Given the description of an element on the screen output the (x, y) to click on. 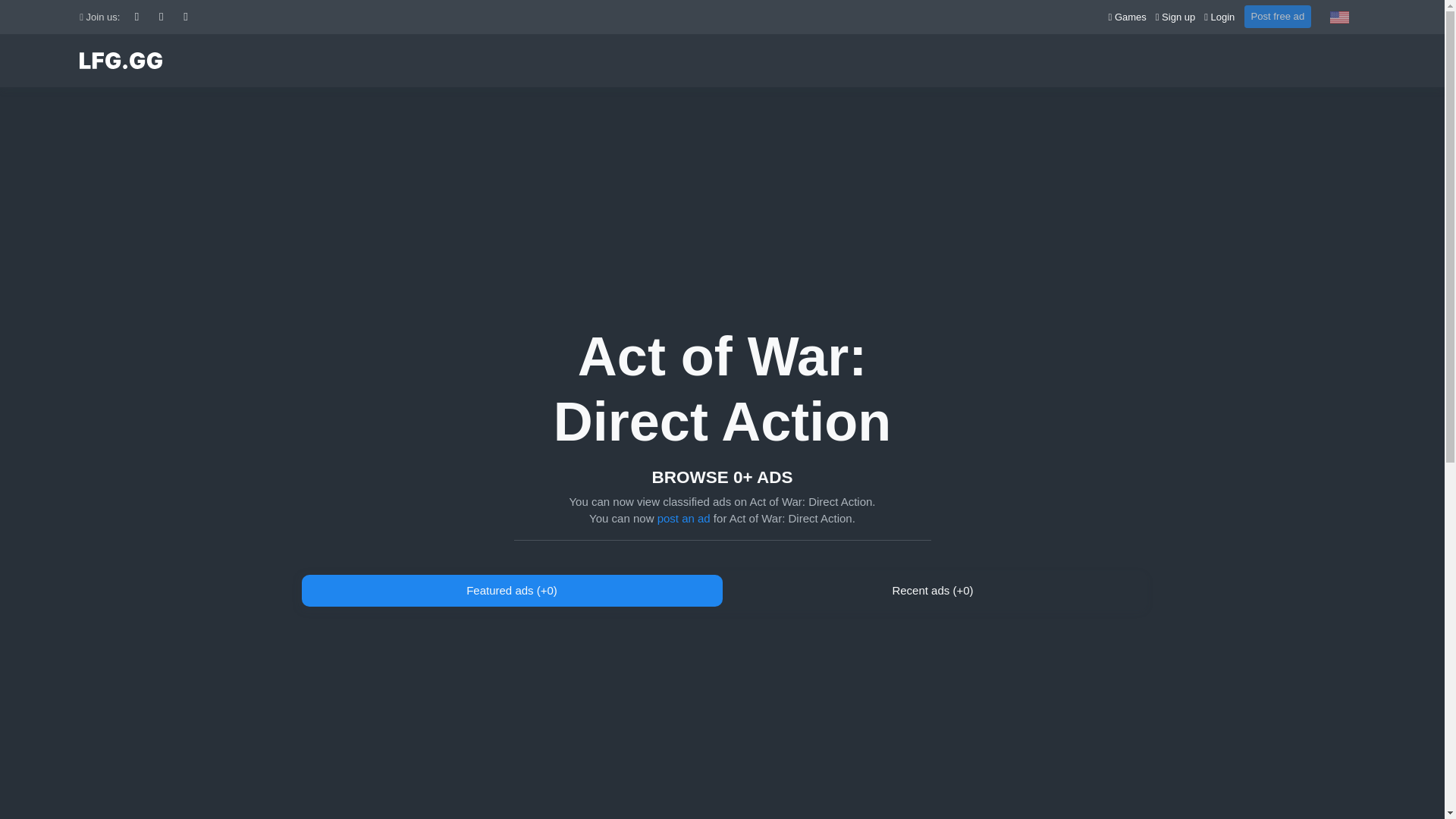
Post free ad (1277, 15)
Sign up (1177, 16)
post an ad (684, 517)
Games (1129, 16)
Login (1219, 16)
Post free ad (1277, 15)
